Given the description of an element on the screen output the (x, y) to click on. 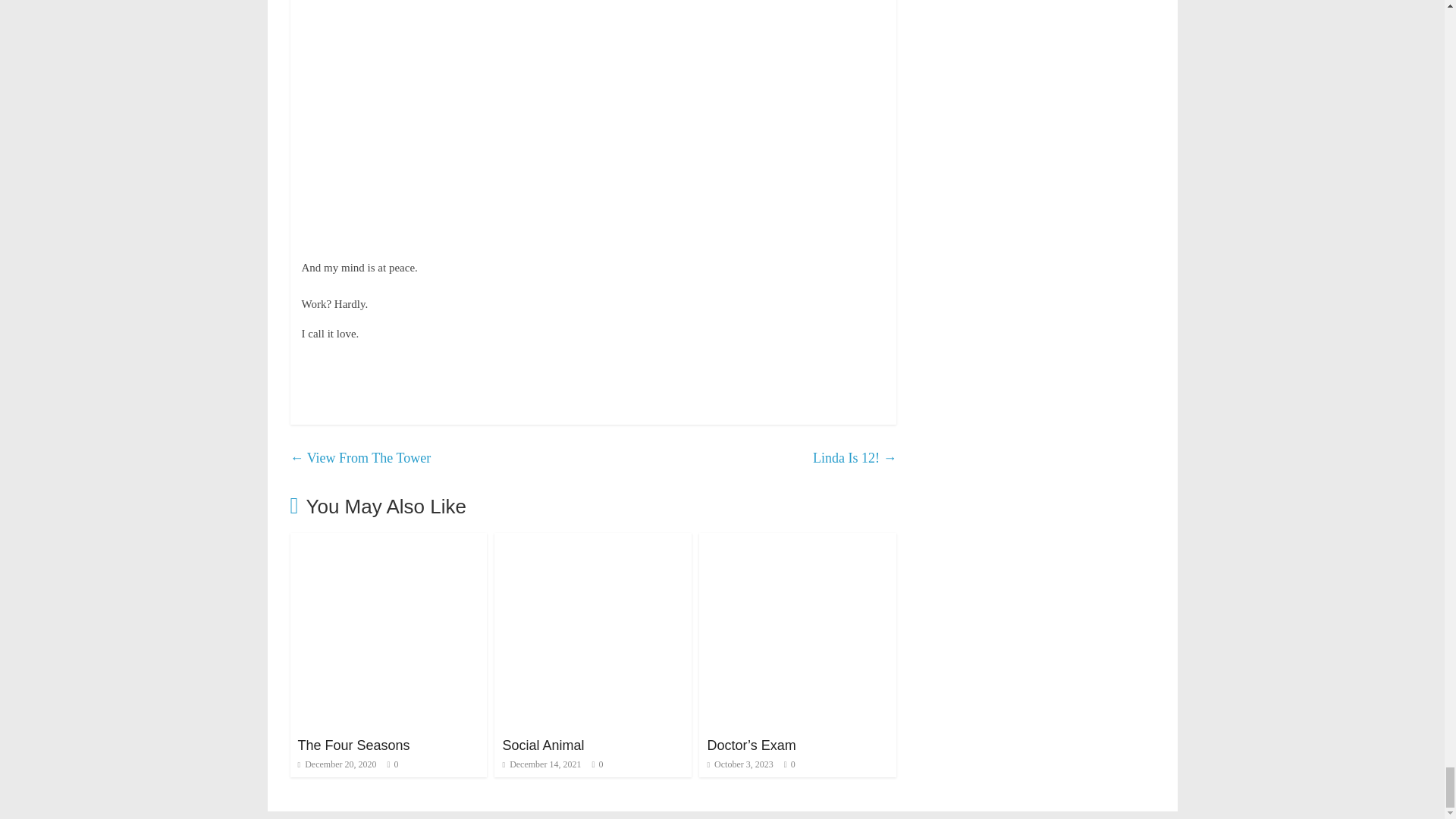
10:45 pm (541, 764)
December 20, 2020 (336, 764)
October 3, 2023 (739, 764)
The Four Seasons (353, 744)
The Four Seasons (387, 542)
Social Animal (542, 744)
Social Animal (542, 744)
December 14, 2021 (541, 764)
12:28 am (336, 764)
Social Animal (593, 542)
The Four Seasons (353, 744)
